Given the description of an element on the screen output the (x, y) to click on. 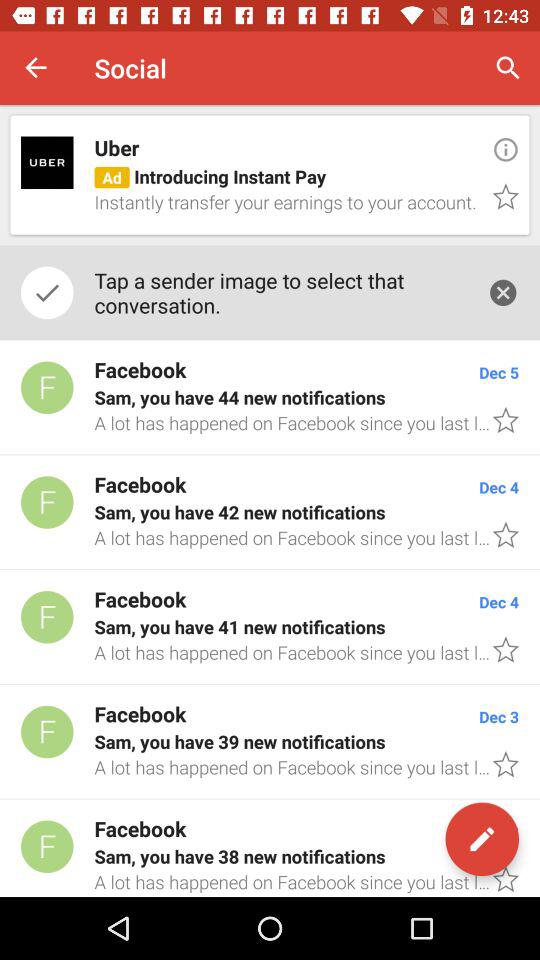
press the icon next to the tap a sender item (503, 292)
